Given the description of an element on the screen output the (x, y) to click on. 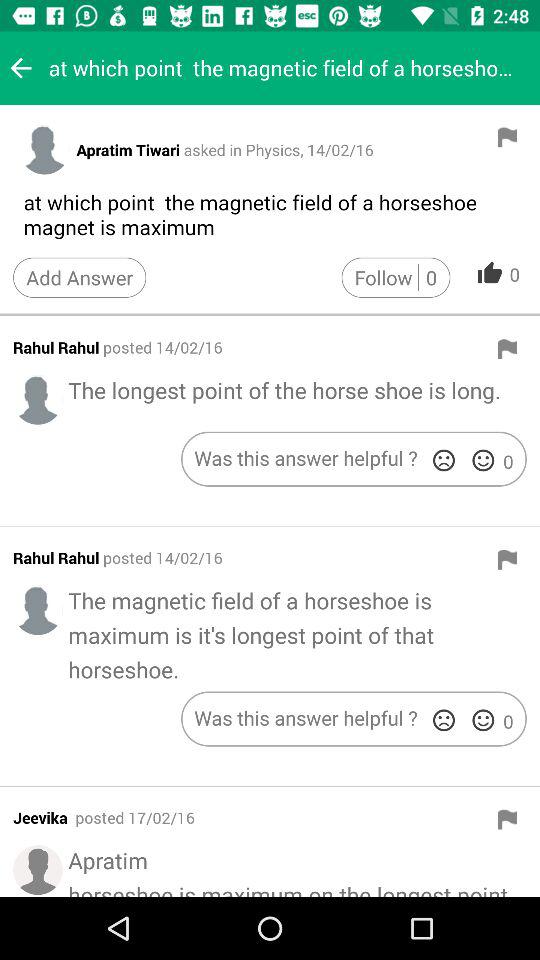
see profile (44, 149)
